Given the description of an element on the screen output the (x, y) to click on. 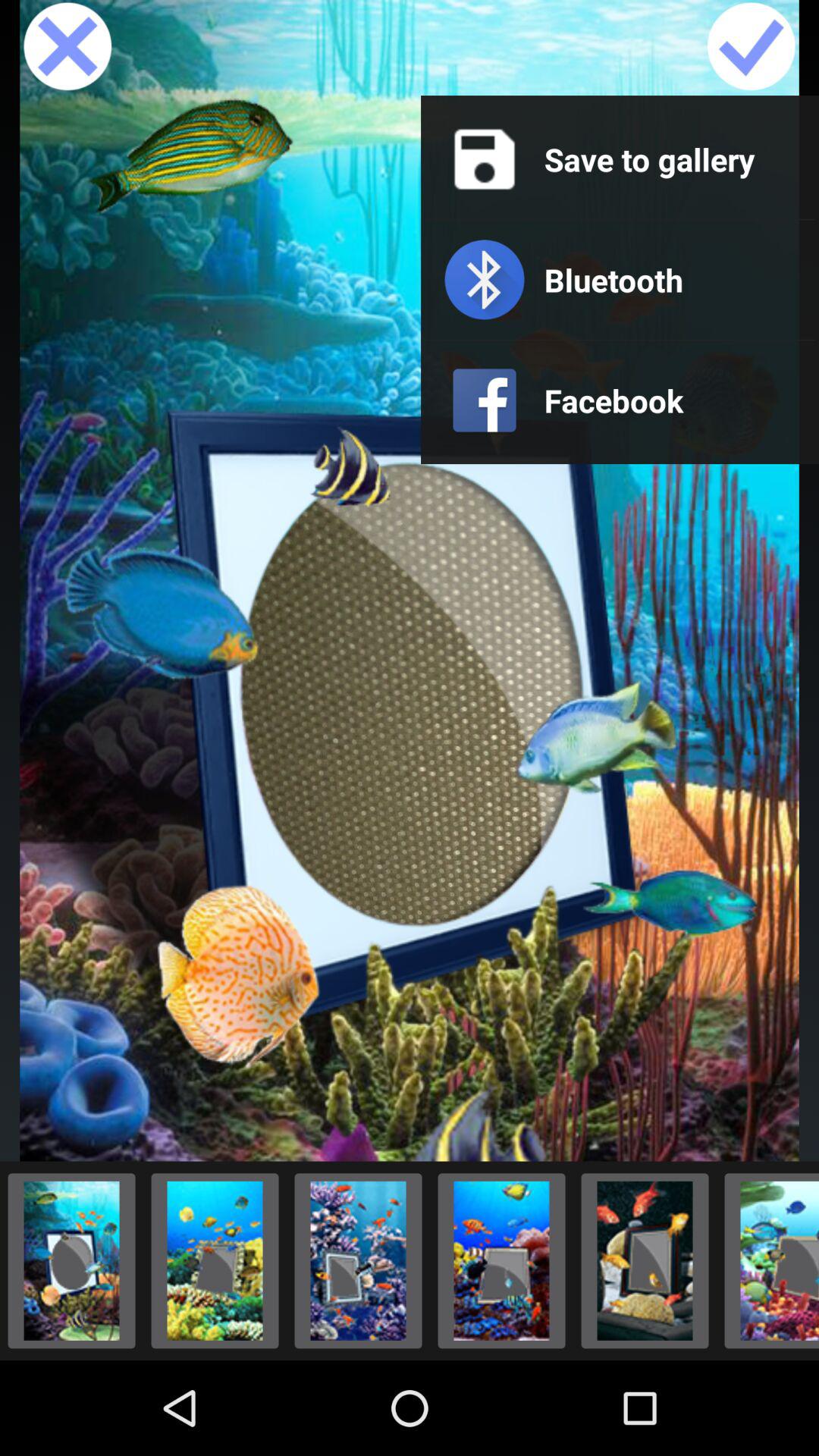
select filter (357, 1260)
